Given the description of an element on the screen output the (x, y) to click on. 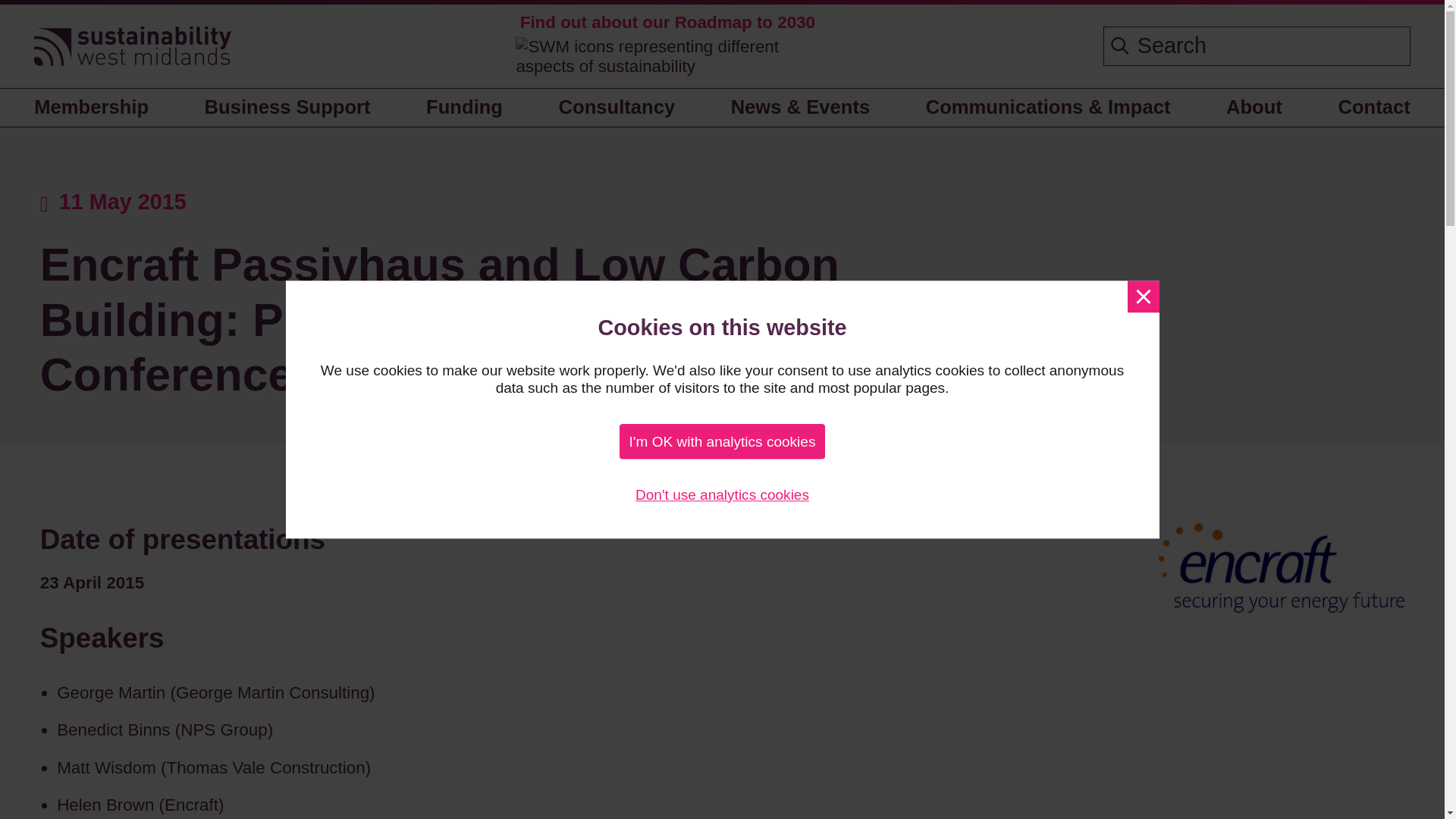
Don't use analytics cookies (721, 494)
Consultancy (616, 107)
Dismiss message (1142, 296)
Membership (96, 107)
I'm OK with analytics cookies (722, 441)
About (1254, 107)
Funding (464, 107)
Business Support (287, 107)
Go to the Sustainability West Midlands home page (132, 47)
